Given the description of an element on the screen output the (x, y) to click on. 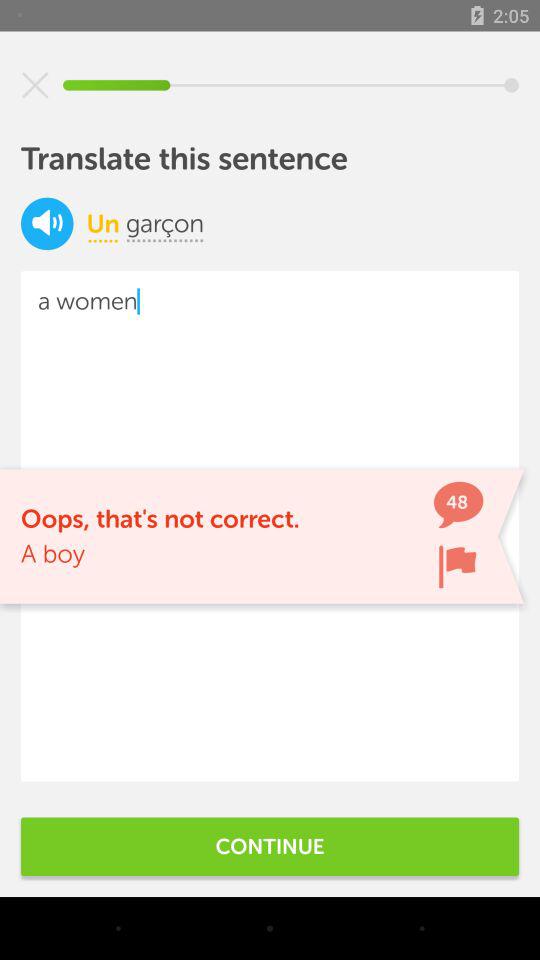
tap item to the left of   icon (102, 223)
